Given the description of an element on the screen output the (x, y) to click on. 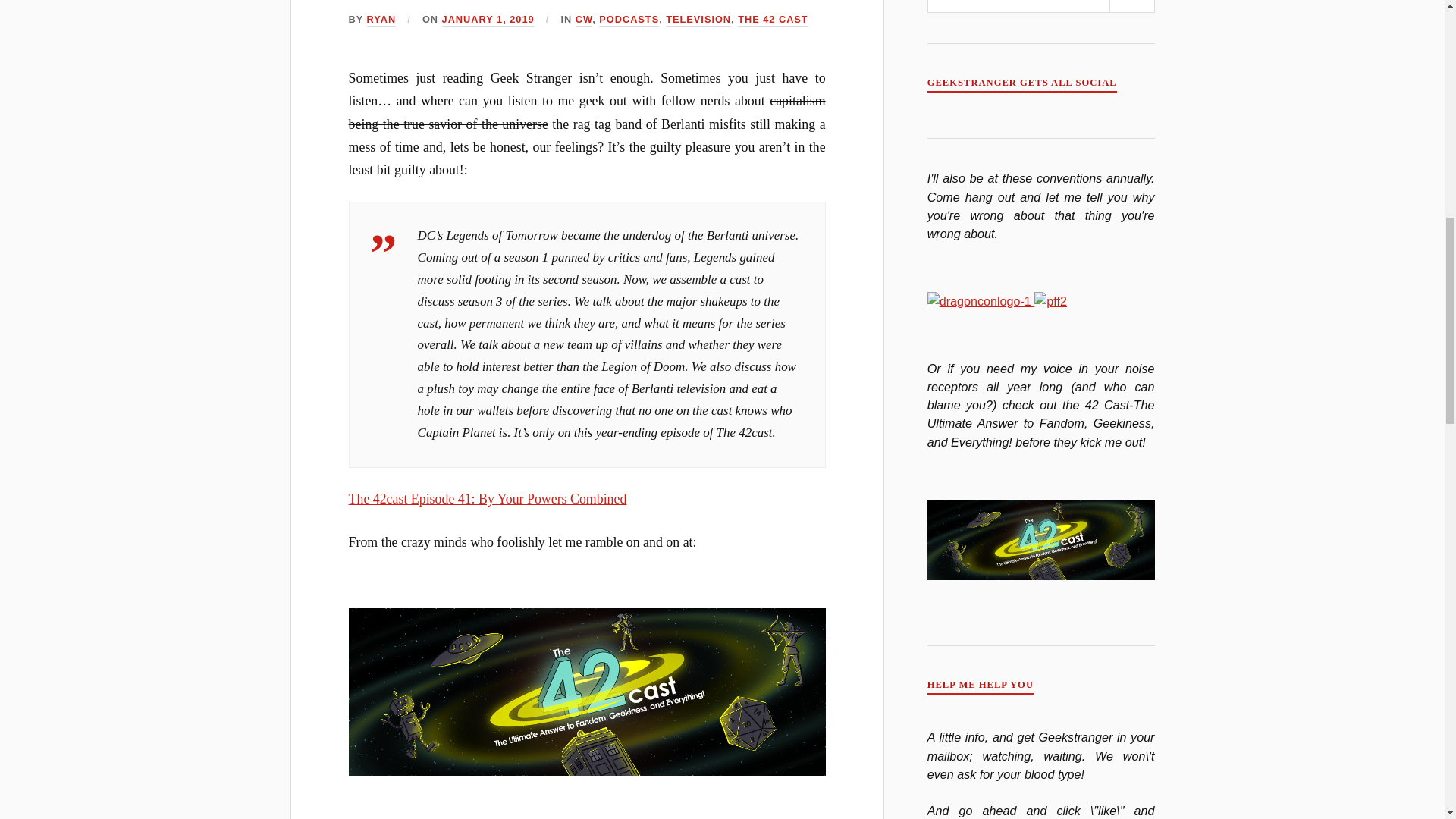
THE 42 CAST (773, 19)
JANUARY 1, 2019 (488, 19)
TELEVISION (697, 19)
PODCASTS (628, 19)
Posts by Ryan (381, 19)
The 42cast Episode 41: By Your Powers Combined (488, 498)
RYAN (381, 19)
CW (583, 19)
